Given the description of an element on the screen output the (x, y) to click on. 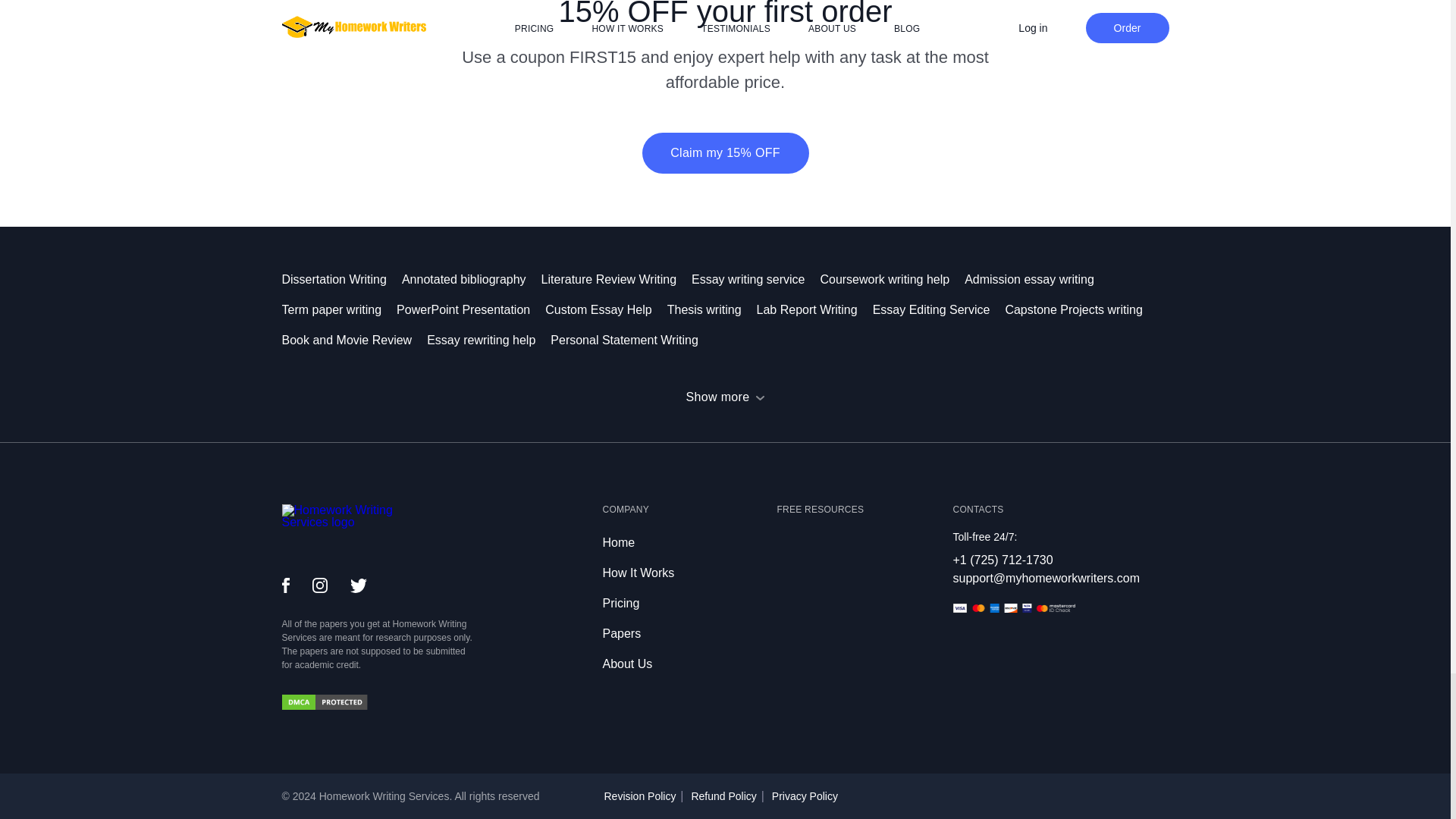
Show more (725, 396)
Thesis writing (711, 309)
Coursework writing help (891, 278)
Lab Report Writing (814, 309)
Annotated bibliography (471, 278)
Literature Review Writing (616, 278)
Capstone Projects writing (1080, 309)
Term paper writing (339, 309)
Book and Movie Review (355, 339)
Essay writing service (755, 278)
Admission essay writing (1036, 278)
Custom Essay Help (605, 309)
Personal Statement Writing (631, 339)
Essay rewriting help (488, 339)
Essay Editing Service (939, 309)
